Given the description of an element on the screen output the (x, y) to click on. 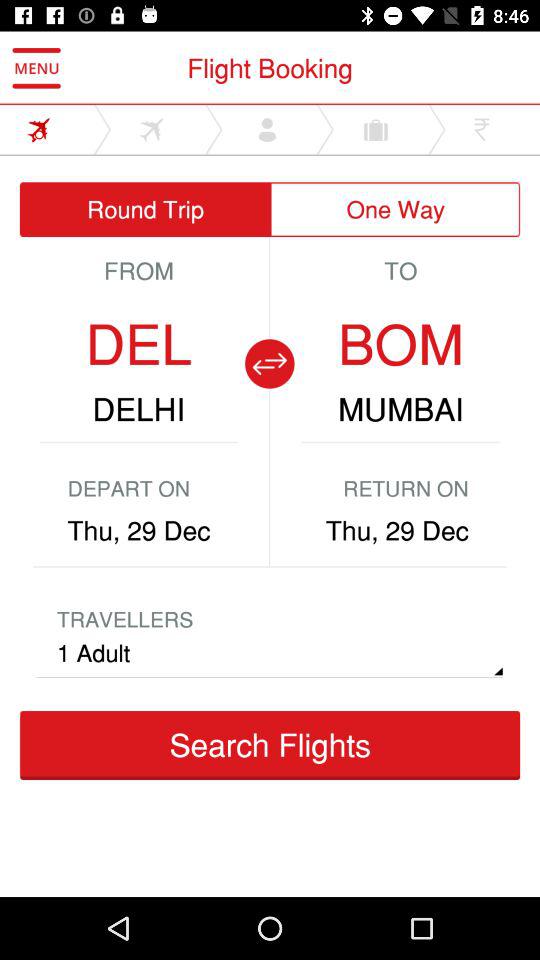
interchange between locations (269, 363)
